Given the description of an element on the screen output the (x, y) to click on. 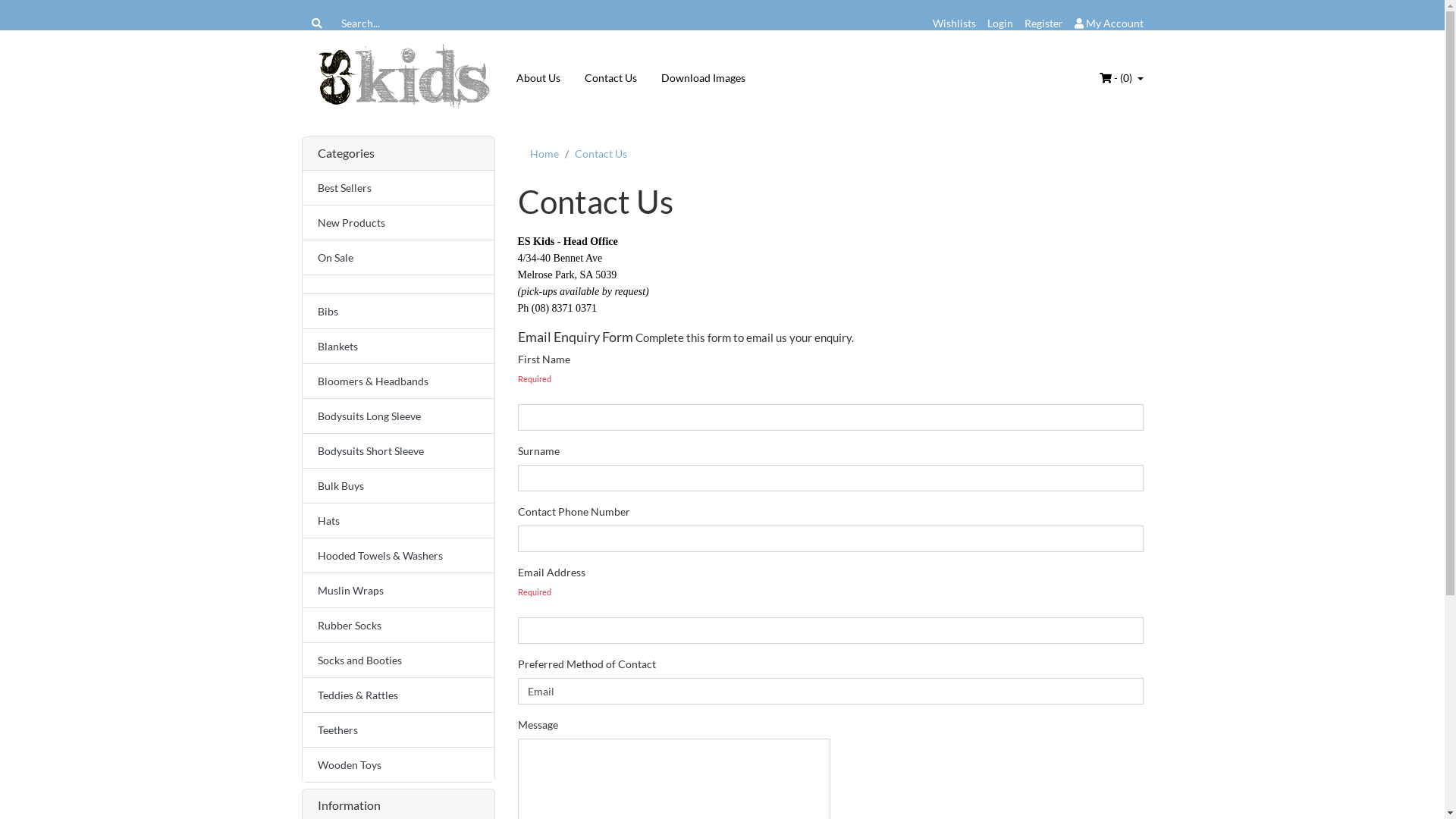
Bulk Buys Element type: text (397, 485)
Teethers Element type: text (397, 729)
Socks and Booties Element type: text (397, 660)
Bodysuits Short Sleeve Element type: text (397, 450)
- (0) Element type: text (1121, 77)
Hooded Towels & Washers Element type: text (397, 555)
Download Images Element type: text (703, 77)
Register Element type: text (1042, 22)
Login Element type: text (1000, 22)
Rubber Socks Element type: text (397, 625)
Bibs Element type: text (397, 311)
Search Element type: text (316, 22)
My Account Element type: text (1107, 22)
Hats Element type: text (397, 520)
Wishlists Element type: text (953, 22)
Contact Us Element type: text (609, 77)
On Sale Element type: text (397, 257)
Home Element type: text (543, 153)
Best Sellers Element type: text (397, 187)
Blankets Element type: text (397, 346)
Wooden Toys Element type: text (397, 764)
New Products Element type: text (397, 222)
Contact Us Element type: text (600, 153)
About Us Element type: text (537, 77)
Teddies & Rattles Element type: text (397, 694)
Muslin Wraps Element type: text (397, 590)
Bloomers & Headbands Element type: text (397, 381)
Bodysuits Long Sleeve Element type: text (397, 415)
